Given the description of an element on the screen output the (x, y) to click on. 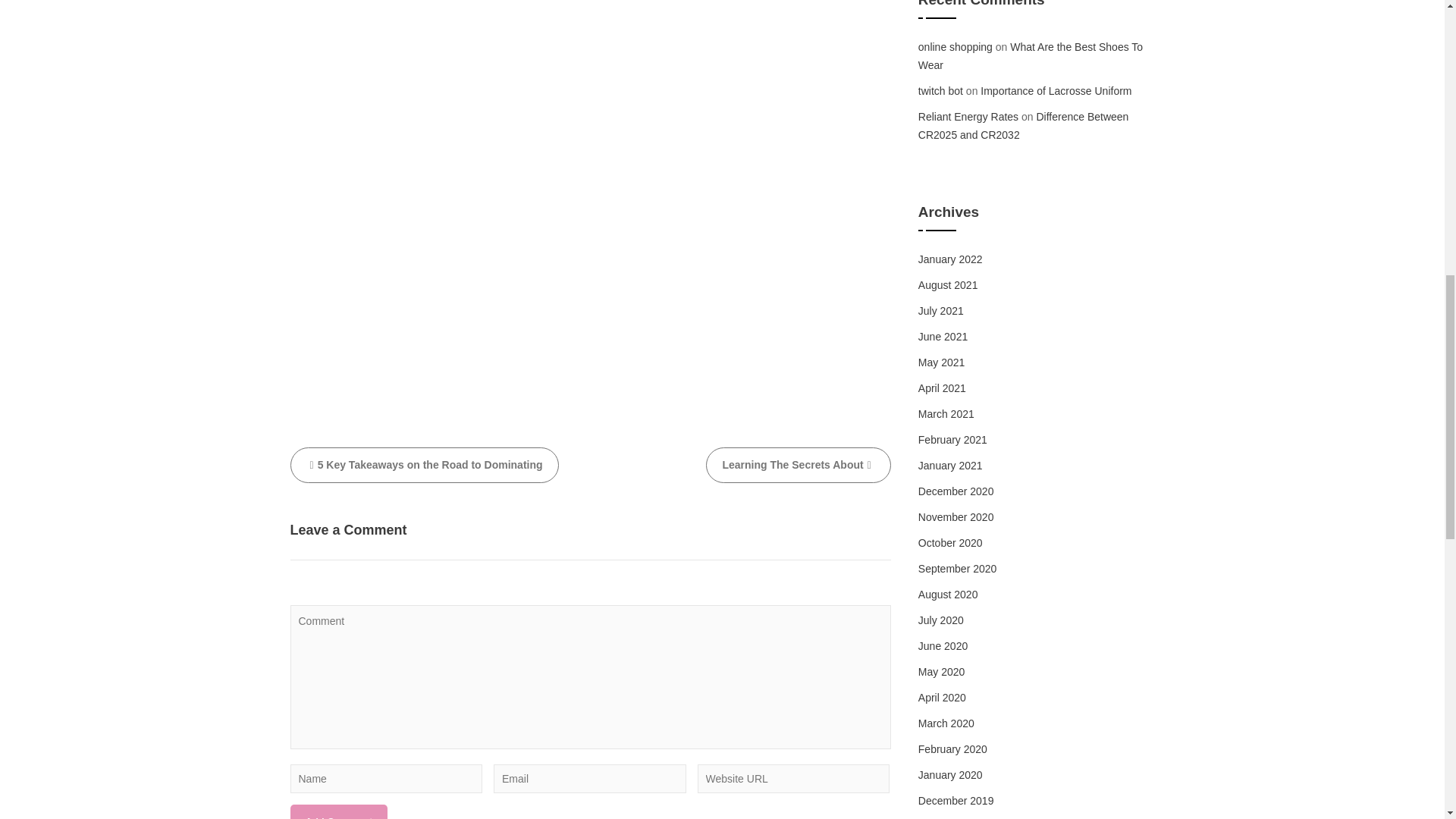
January 2021 (950, 465)
November 2020 (956, 517)
Importance of Lacrosse Uniform (1055, 91)
January 2022 (950, 259)
Difference Between CR2025 and CR2032 (1023, 125)
February 2021 (952, 439)
twitch bot (940, 91)
July 2021 (940, 310)
October 2020 (950, 542)
June 2021 (943, 336)
